Given the description of an element on the screen output the (x, y) to click on. 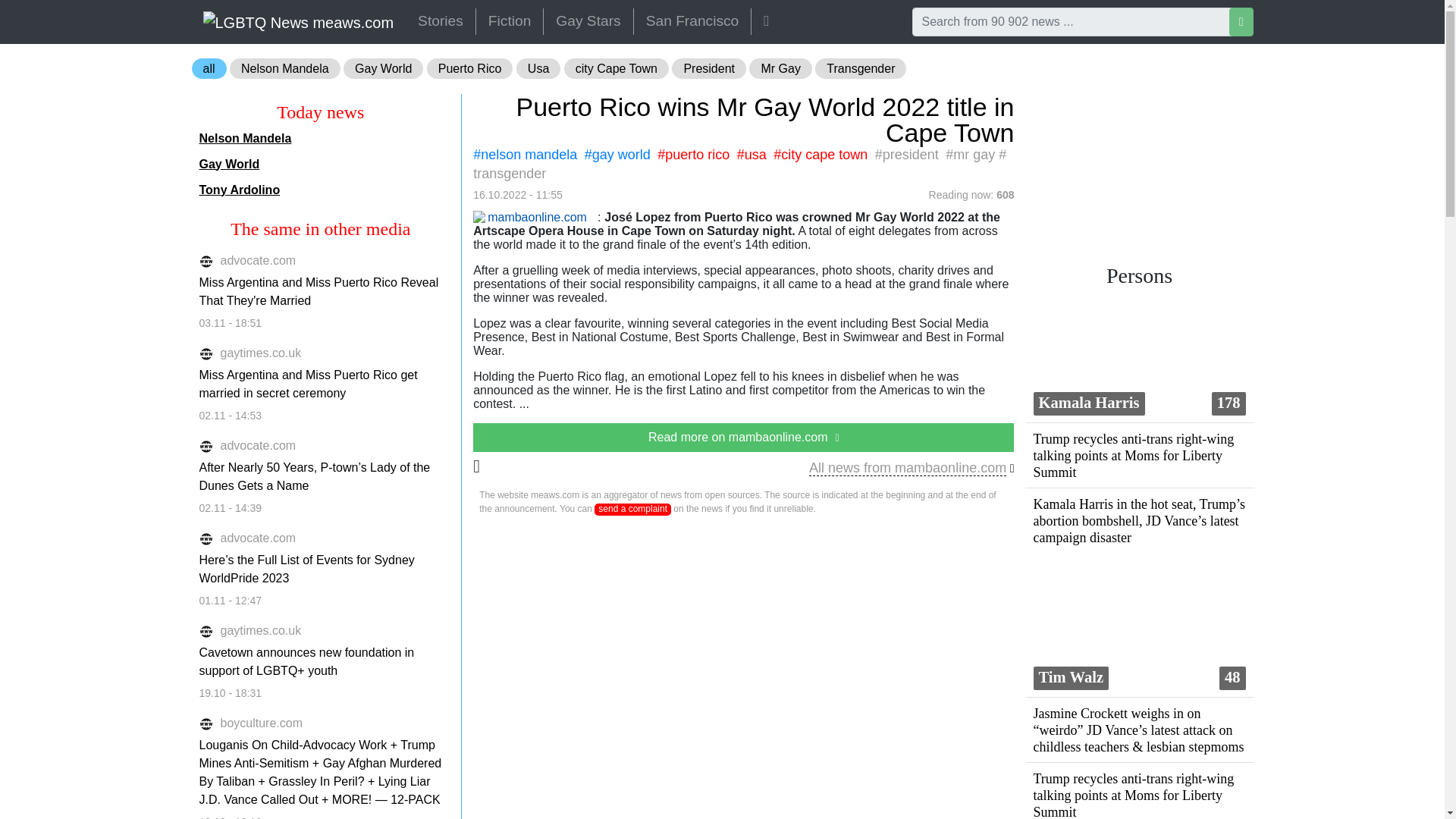
Fiction (509, 21)
Gay Stars (587, 21)
Stories (441, 21)
San Francisco (692, 21)
Fiction (509, 21)
Gay Stars (587, 21)
Stories (441, 21)
San Francisco (692, 21)
